Given the description of an element on the screen output the (x, y) to click on. 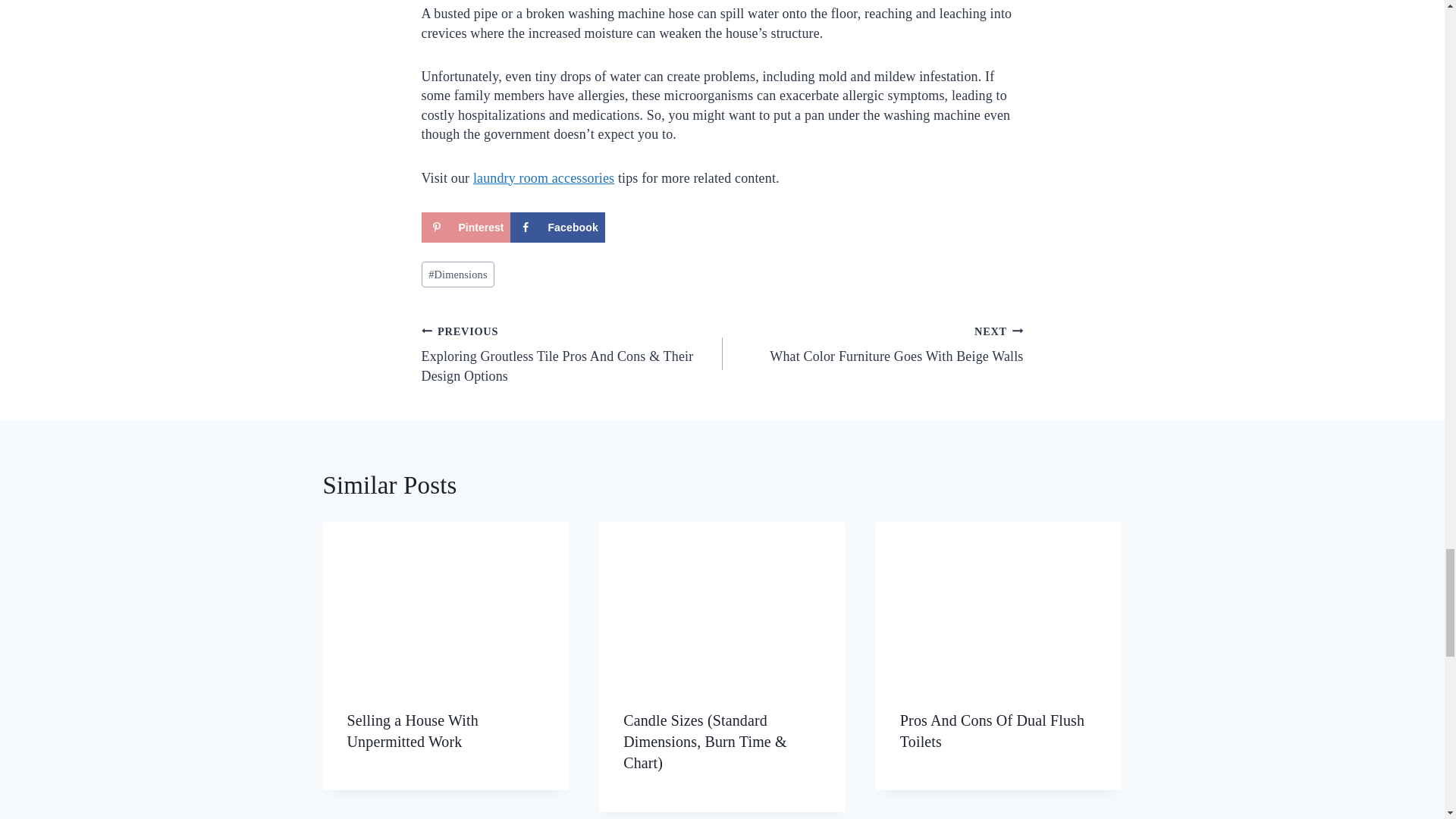
Dimensions (458, 274)
Save to Pinterest (466, 227)
Share on Facebook (558, 227)
Share on Flipboard (651, 227)
